Given the description of an element on the screen output the (x, y) to click on. 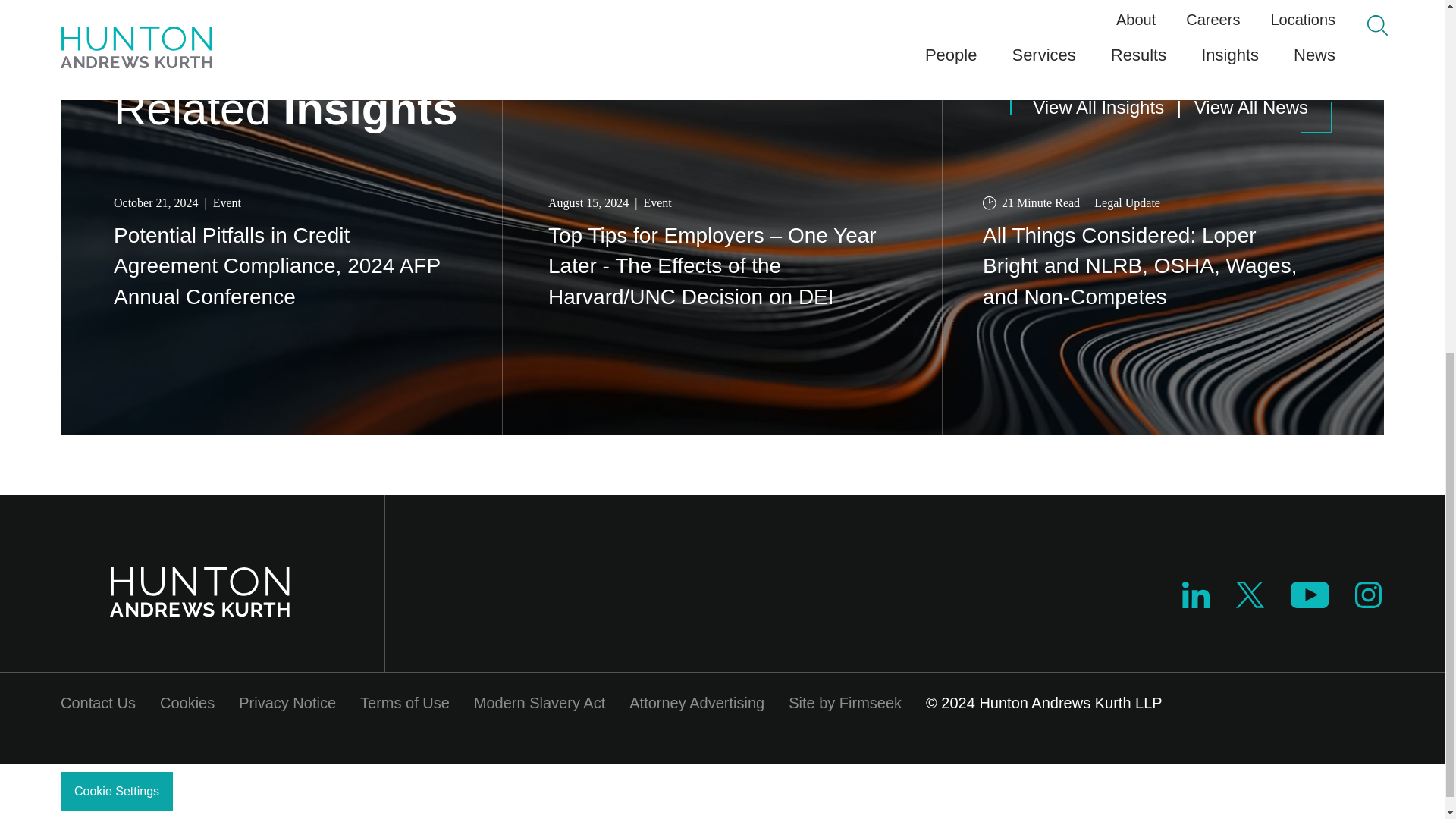
Youtube (1309, 602)
Instagram (1369, 602)
Linkedin (1195, 594)
Instagram (1368, 594)
X (1250, 602)
Linkedin (1195, 602)
Youtube (1309, 594)
